Given the description of an element on the screen output the (x, y) to click on. 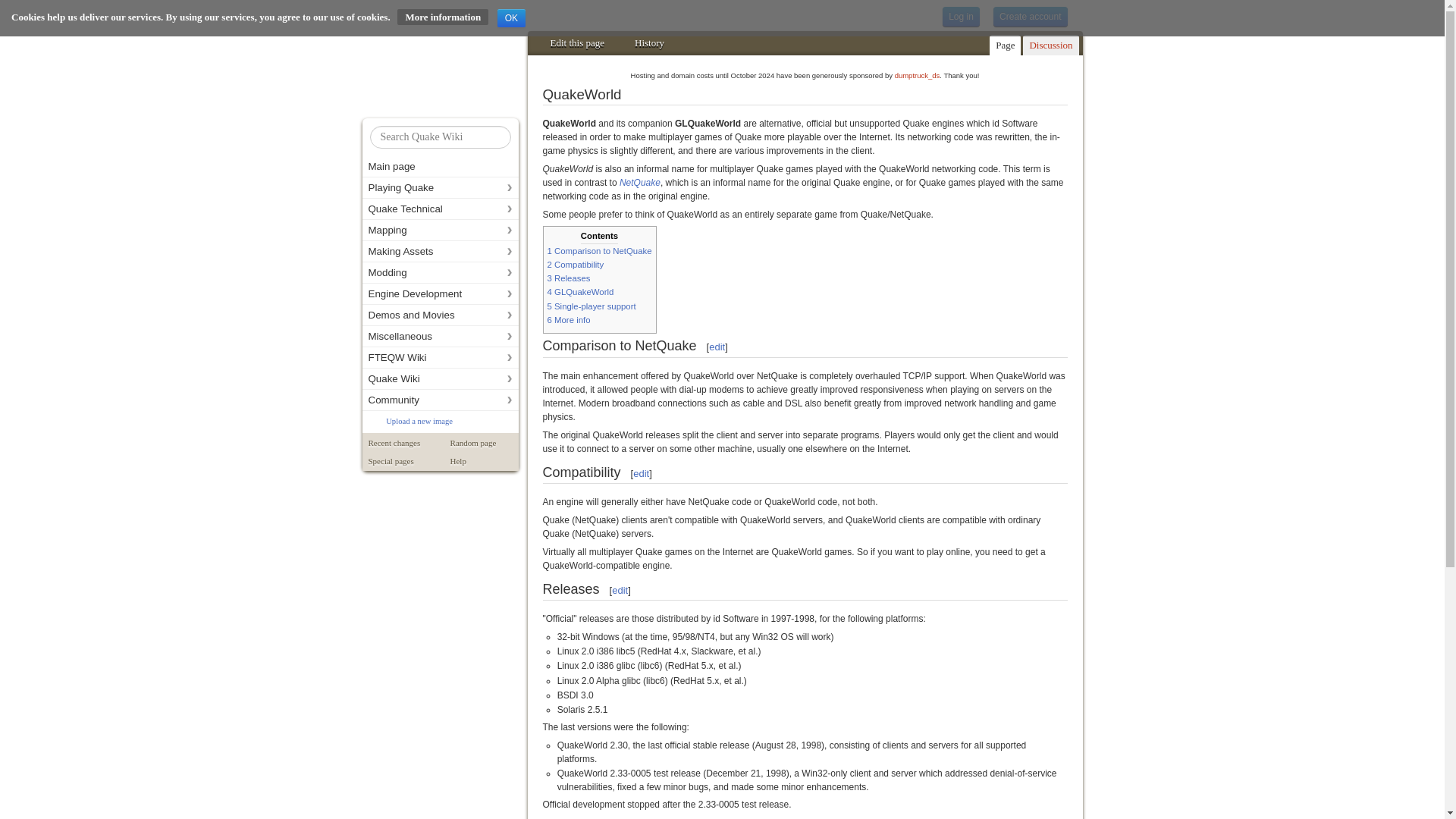
2 Compatibility (575, 264)
OK (511, 18)
edit (717, 346)
edit (619, 590)
Edit section: Compatibility (641, 473)
Edit this page (577, 42)
5 Single-player support (591, 306)
Edit section: Releases (619, 590)
Edit section: Comparison to NetQuake (717, 346)
More information (442, 17)
3 Releases (569, 277)
edit (641, 473)
NetQuake (640, 182)
4 GLQuakeWorld (580, 291)
OK (511, 18)
